Given the description of an element on the screen output the (x, y) to click on. 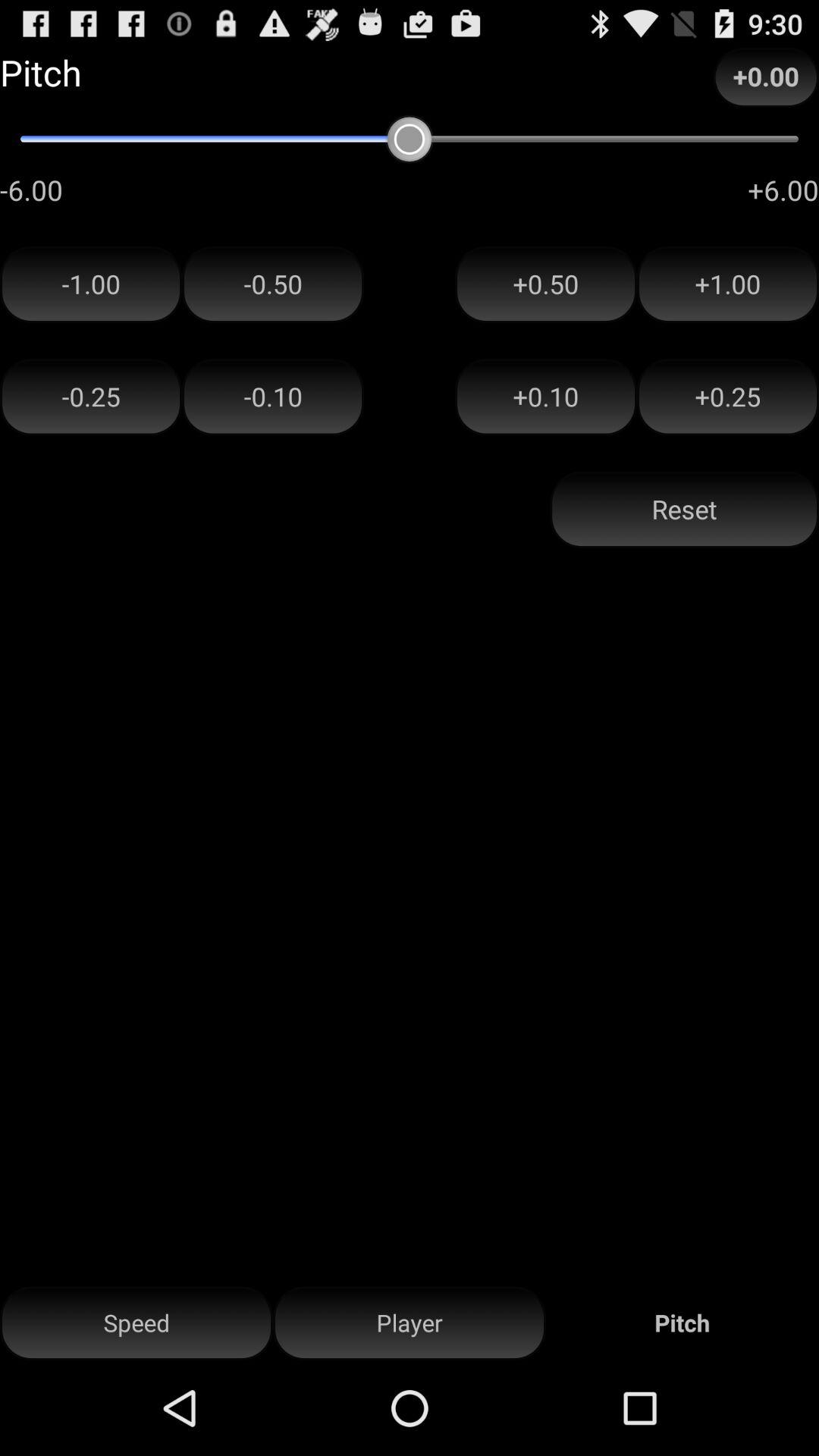
launch button to the left of the player item (136, 1323)
